Given the description of an element on the screen output the (x, y) to click on. 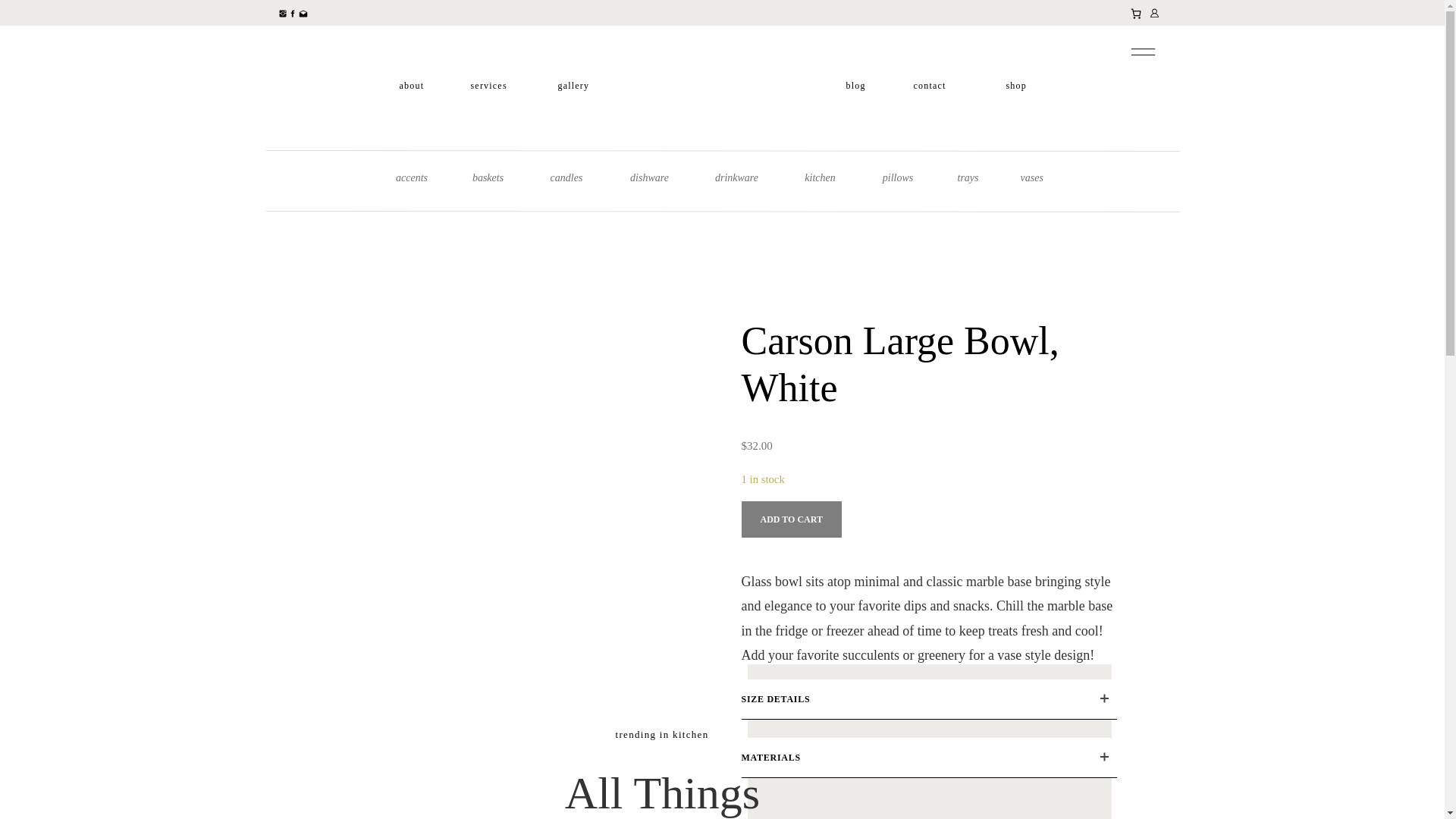
kitchen (820, 179)
MATERIALS (928, 757)
drinkware (736, 179)
blog (855, 85)
accents (411, 179)
dishware (649, 179)
gallery (573, 85)
contact (928, 85)
vases (1031, 179)
services (488, 85)
